Given the description of an element on the screen output the (x, y) to click on. 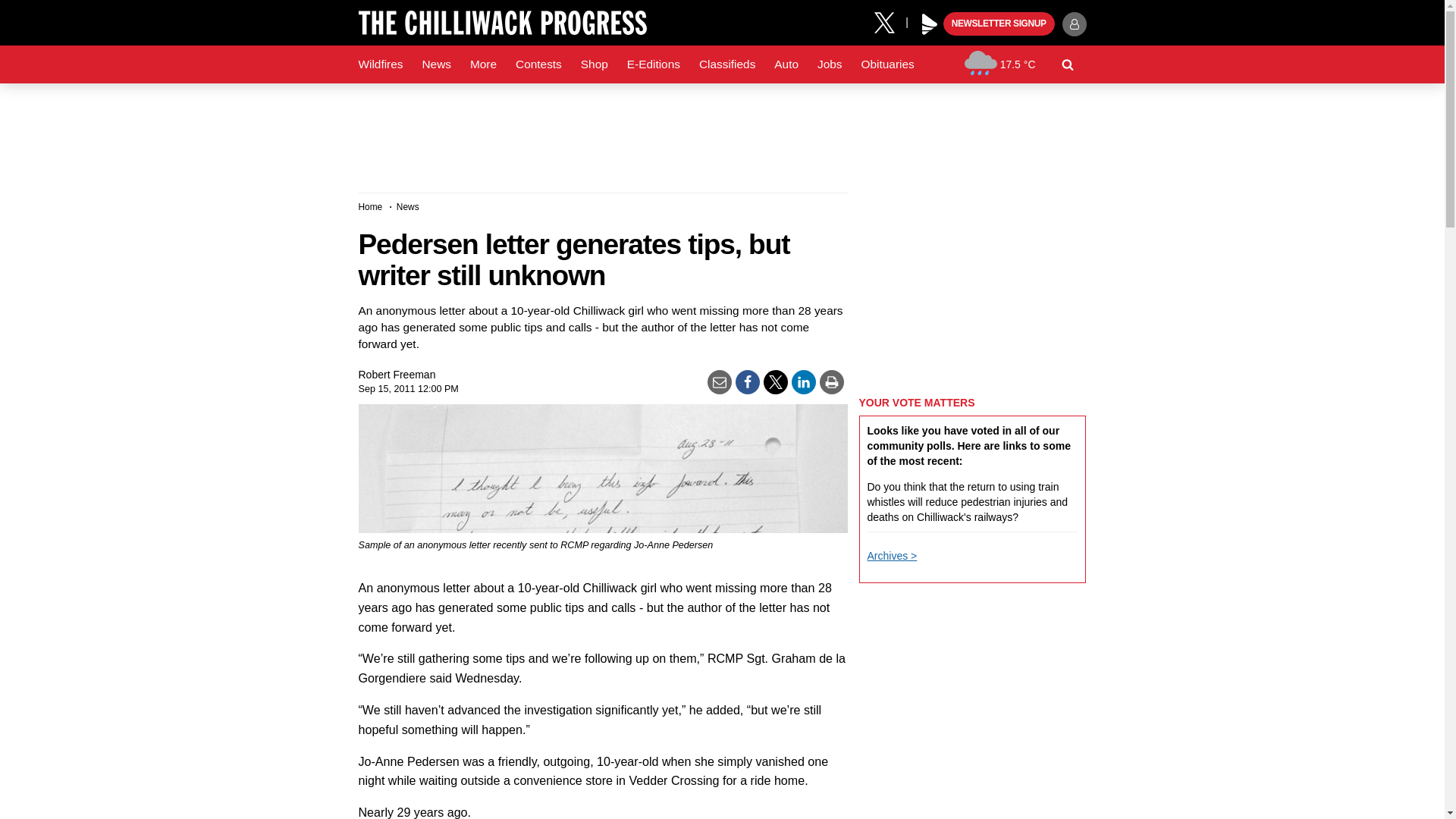
Play (929, 24)
Wildfires (380, 64)
X (889, 21)
Black Press Media (929, 24)
NEWSLETTER SIGNUP (998, 24)
News (435, 64)
